Given the description of an element on the screen output the (x, y) to click on. 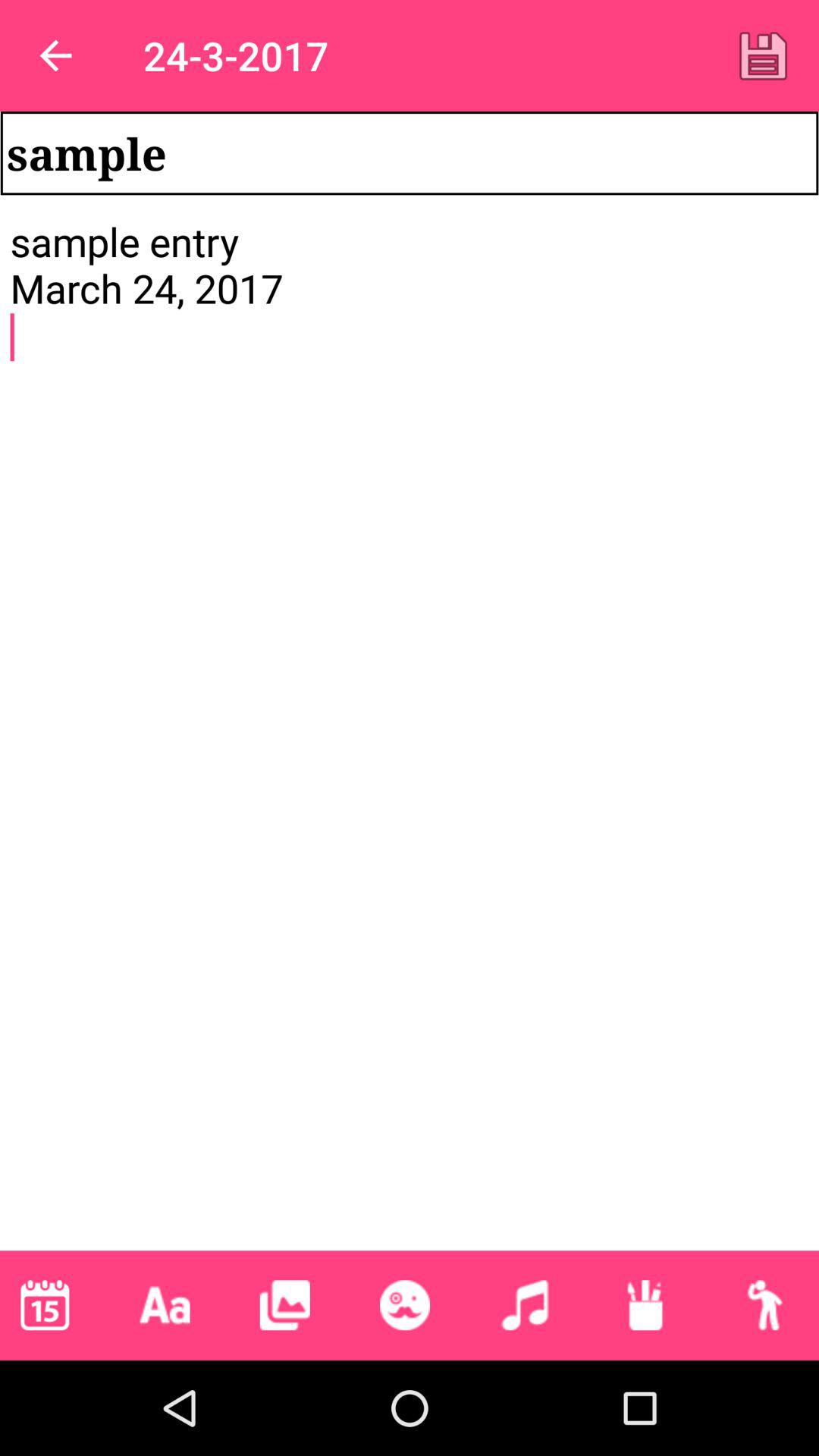
turn off icon above sample (763, 55)
